Given the description of an element on the screen output the (x, y) to click on. 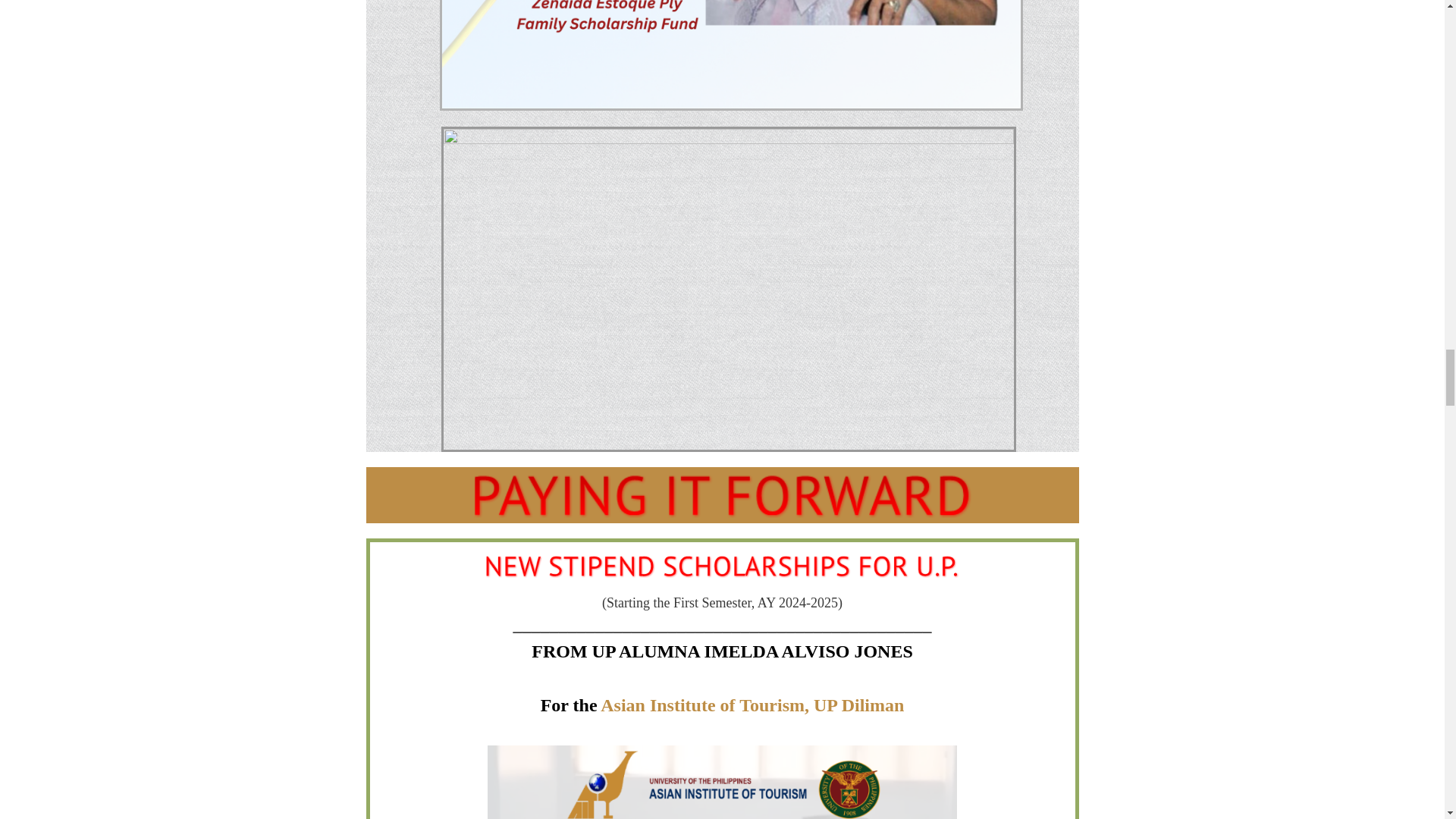
Asian Institute of Tourism, UP Diliman (751, 704)
